Given the description of an element on the screen output the (x, y) to click on. 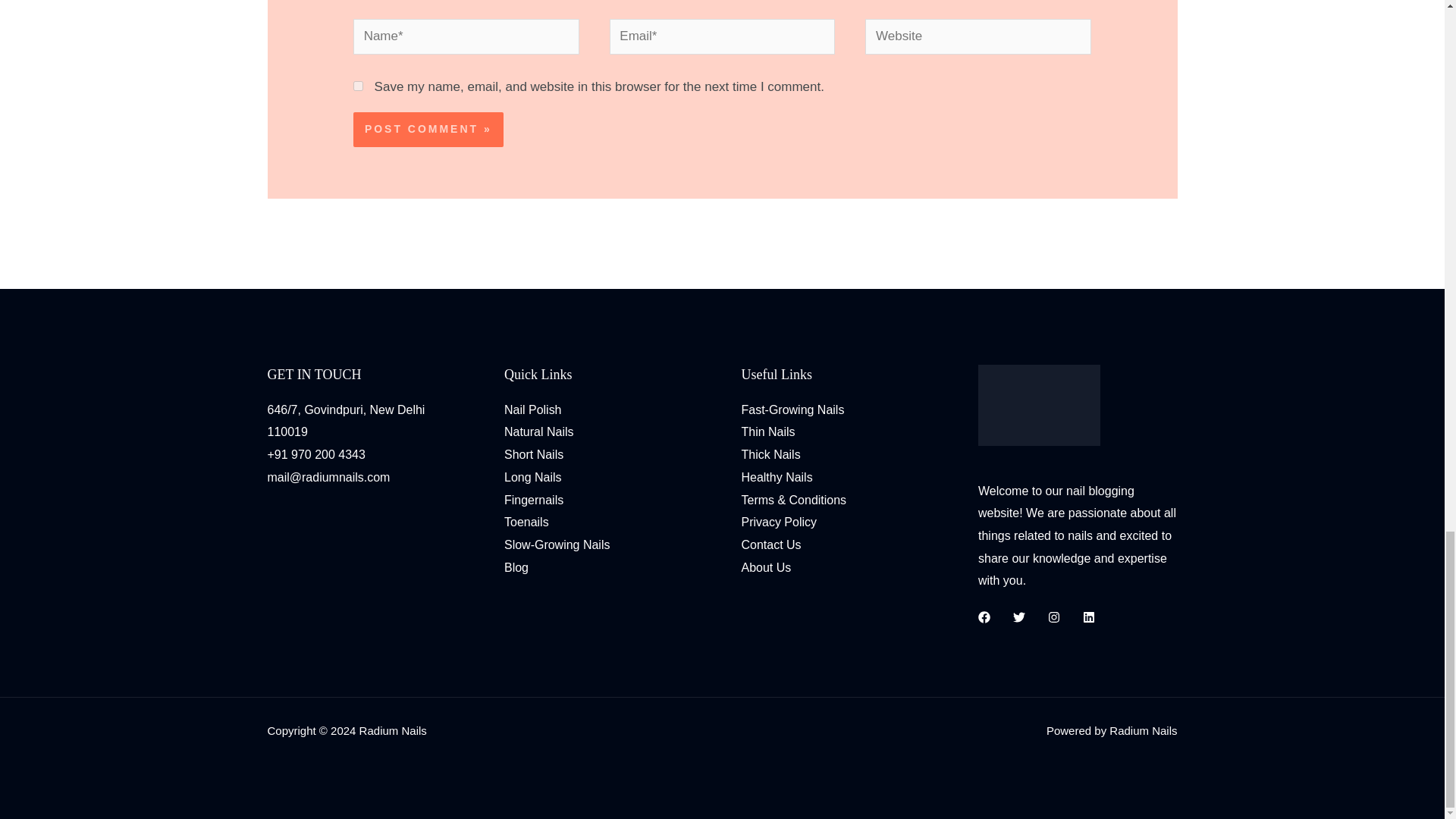
yes (357, 85)
